Given the description of an element on the screen output the (x, y) to click on. 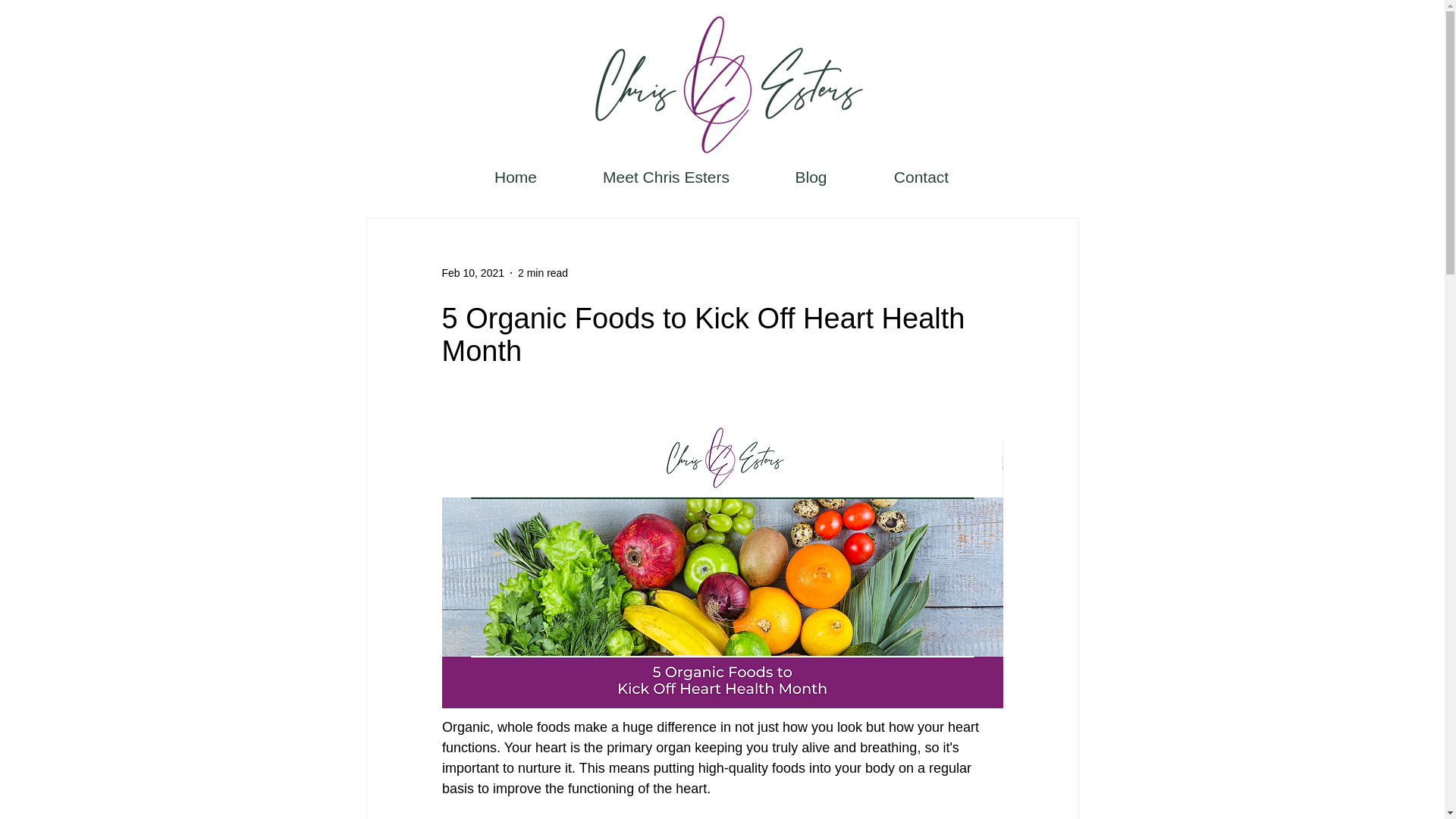
Blog (810, 177)
2 min read (542, 272)
Meet Chris Esters (665, 177)
Feb 10, 2021 (472, 272)
Contact (920, 177)
Home (515, 177)
